Given the description of an element on the screen output the (x, y) to click on. 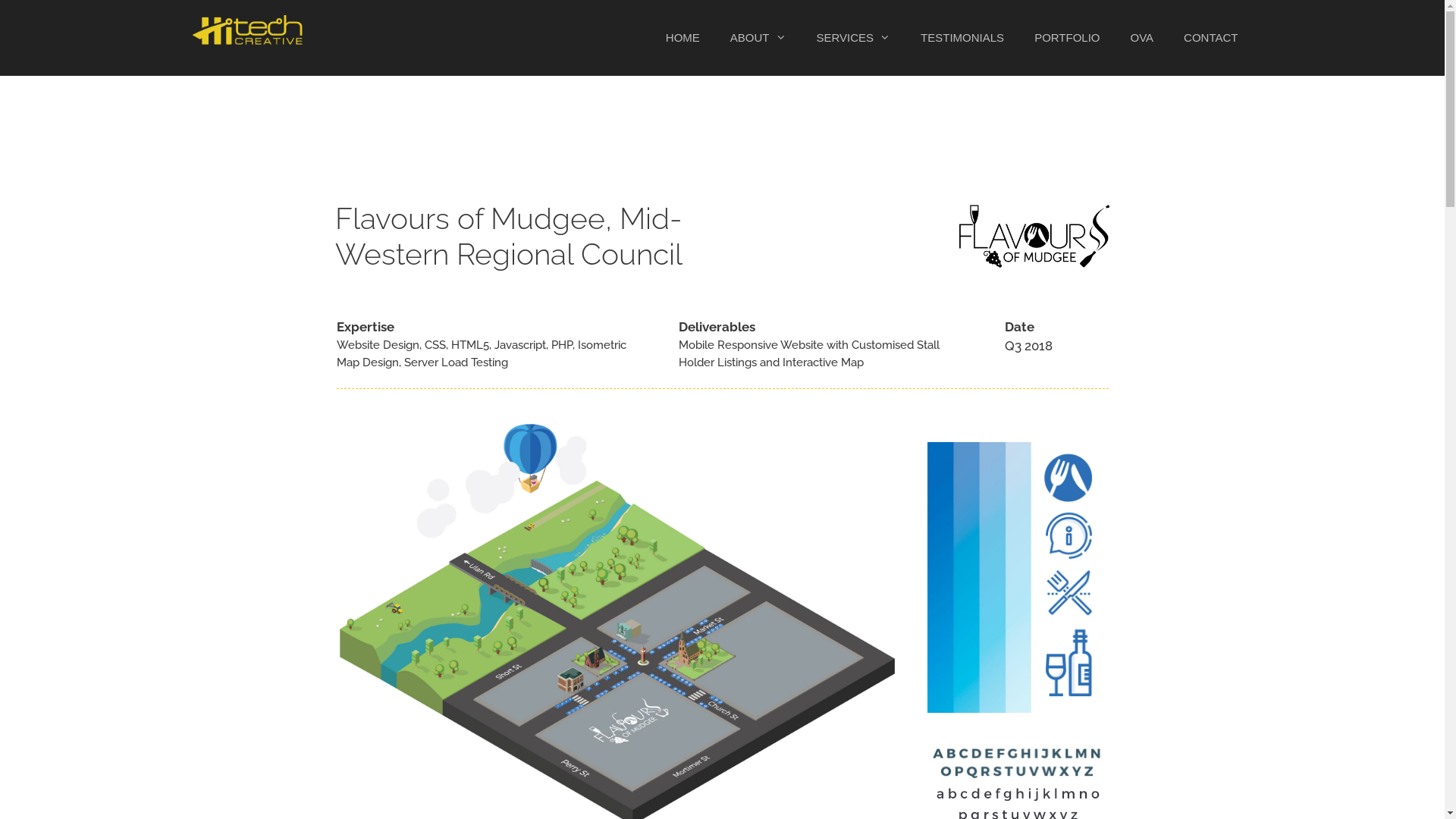
SERVICES Element type: text (852, 37)
ABOUT Element type: text (758, 37)
TESTIMONIALS Element type: text (962, 37)
CONTACT Element type: text (1210, 37)
flavoursofmudgee Element type: hover (1034, 235)
Screenshot 2020-01-08 at 08.58.00 Element type: hover (1017, 763)
flavoursifmudgeebranding Element type: hover (1017, 577)
PORTFOLIO Element type: text (1066, 37)
HOME Element type: text (682, 37)
OVA Element type: text (1142, 37)
